Given the description of an element on the screen output the (x, y) to click on. 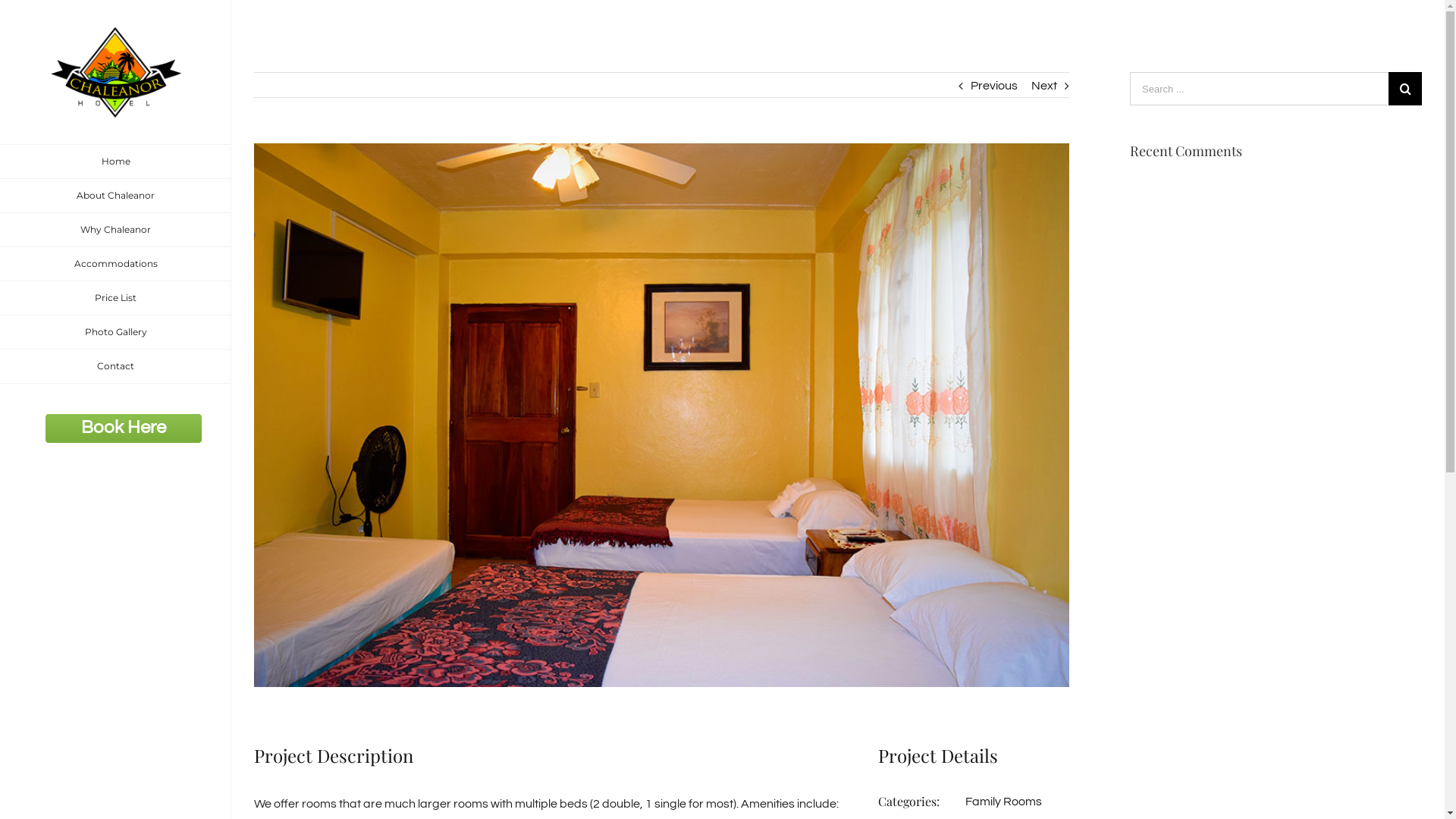
Previous Element type: text (993, 85)
Family Rooms Element type: text (1003, 801)
Accommodations Element type: text (115, 264)
Next Element type: text (1044, 85)
Why Chaleanor Element type: text (115, 230)
Contact Element type: text (115, 366)
View Larger Image Element type: text (661, 415)
Home Element type: text (115, 161)
About Chaleanor Element type: text (115, 195)
Price List Element type: text (115, 298)
Photo Gallery Element type: text (115, 332)
Book Here Element type: text (123, 428)
